Given the description of an element on the screen output the (x, y) to click on. 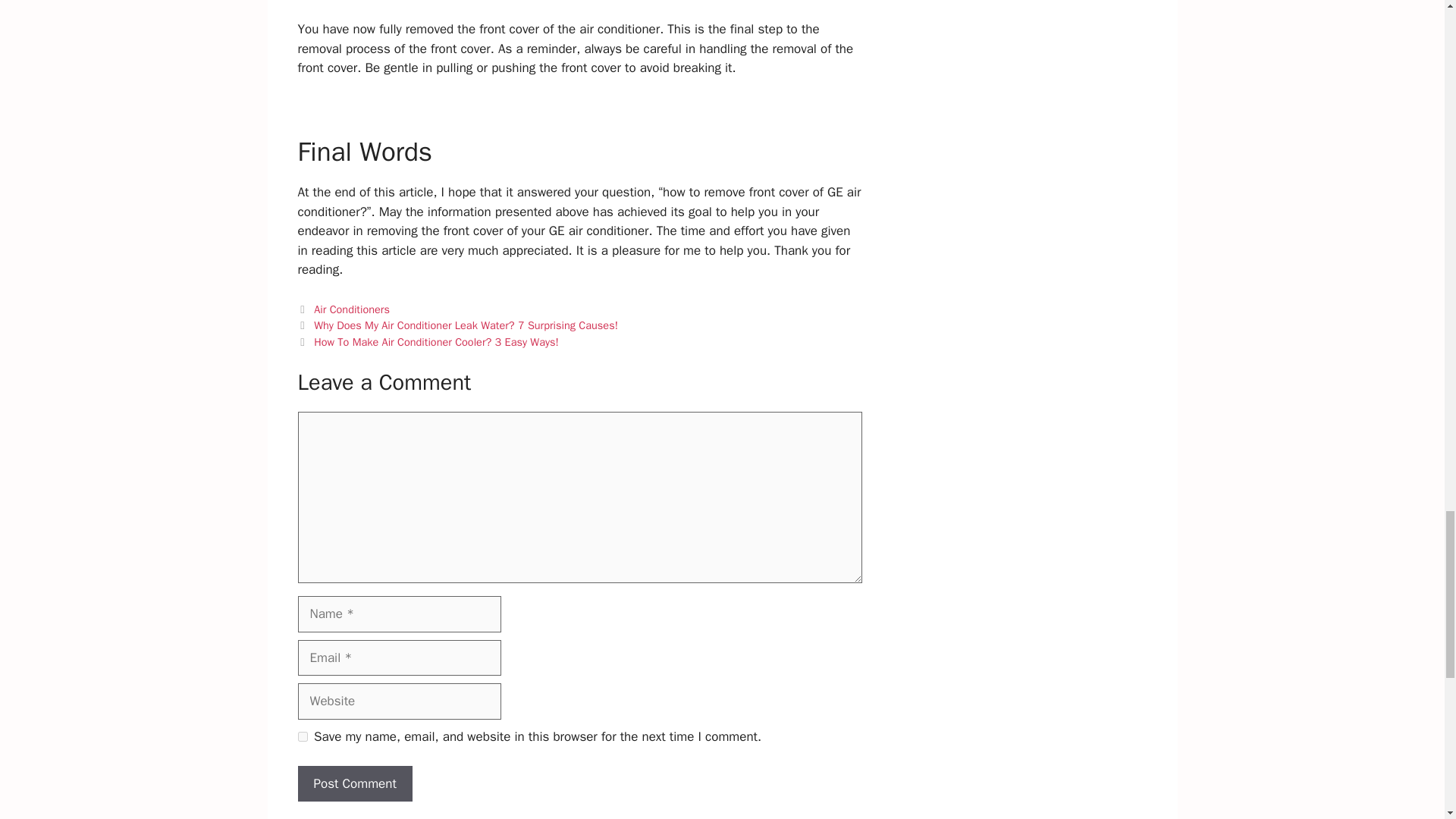
Post Comment (354, 783)
yes (302, 737)
